Given the description of an element on the screen output the (x, y) to click on. 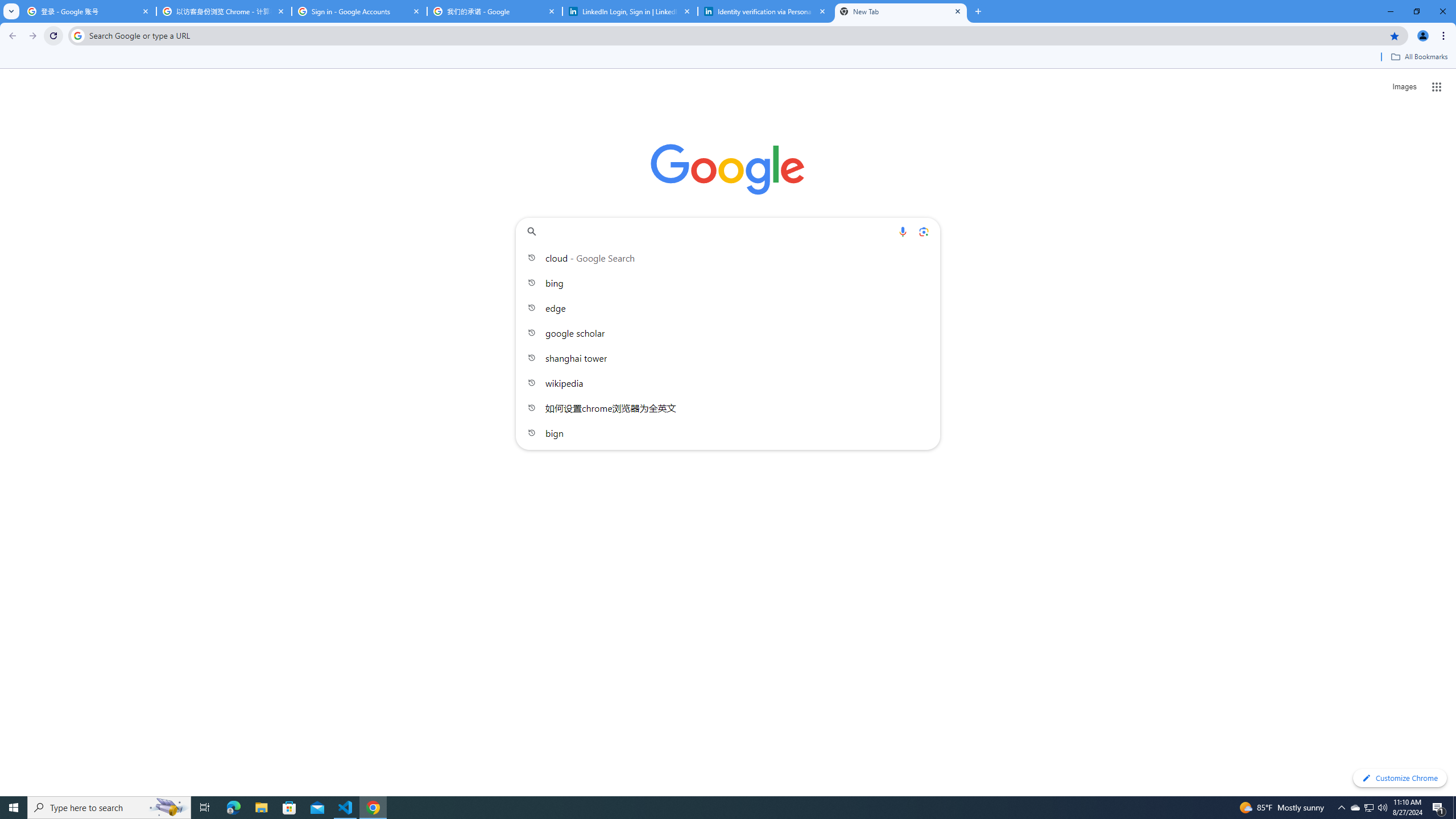
Identity verification via Persona | LinkedIn Help (765, 11)
LinkedIn Login, Sign in | LinkedIn (630, 11)
Sign in - Google Accounts (359, 11)
All Bookmarks (1418, 56)
Search by voice (902, 230)
